Given the description of an element on the screen output the (x, y) to click on. 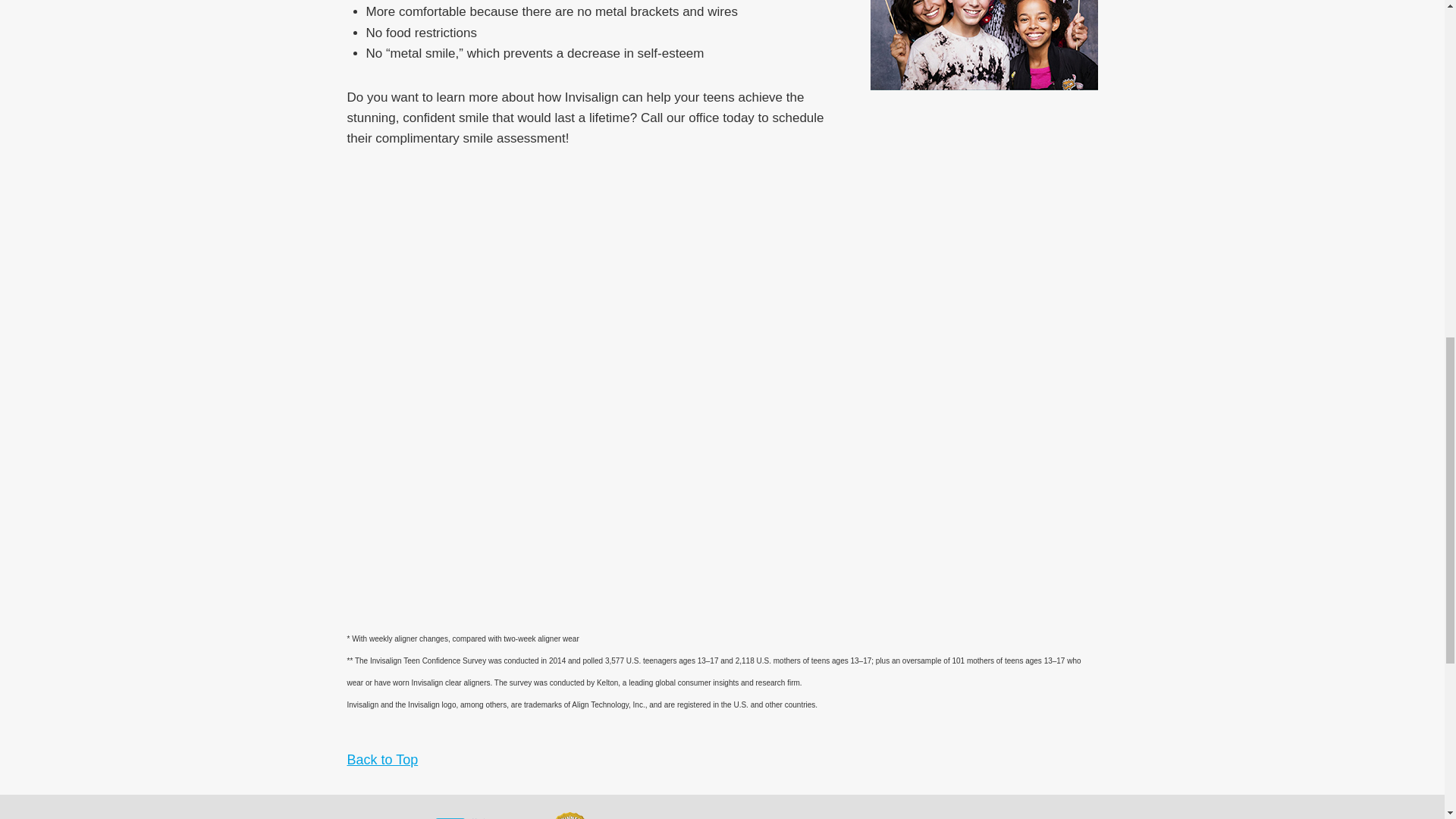
What Sets Us Apart (379, 815)
What Sets Us Apart (475, 815)
